Given the description of an element on the screen output the (x, y) to click on. 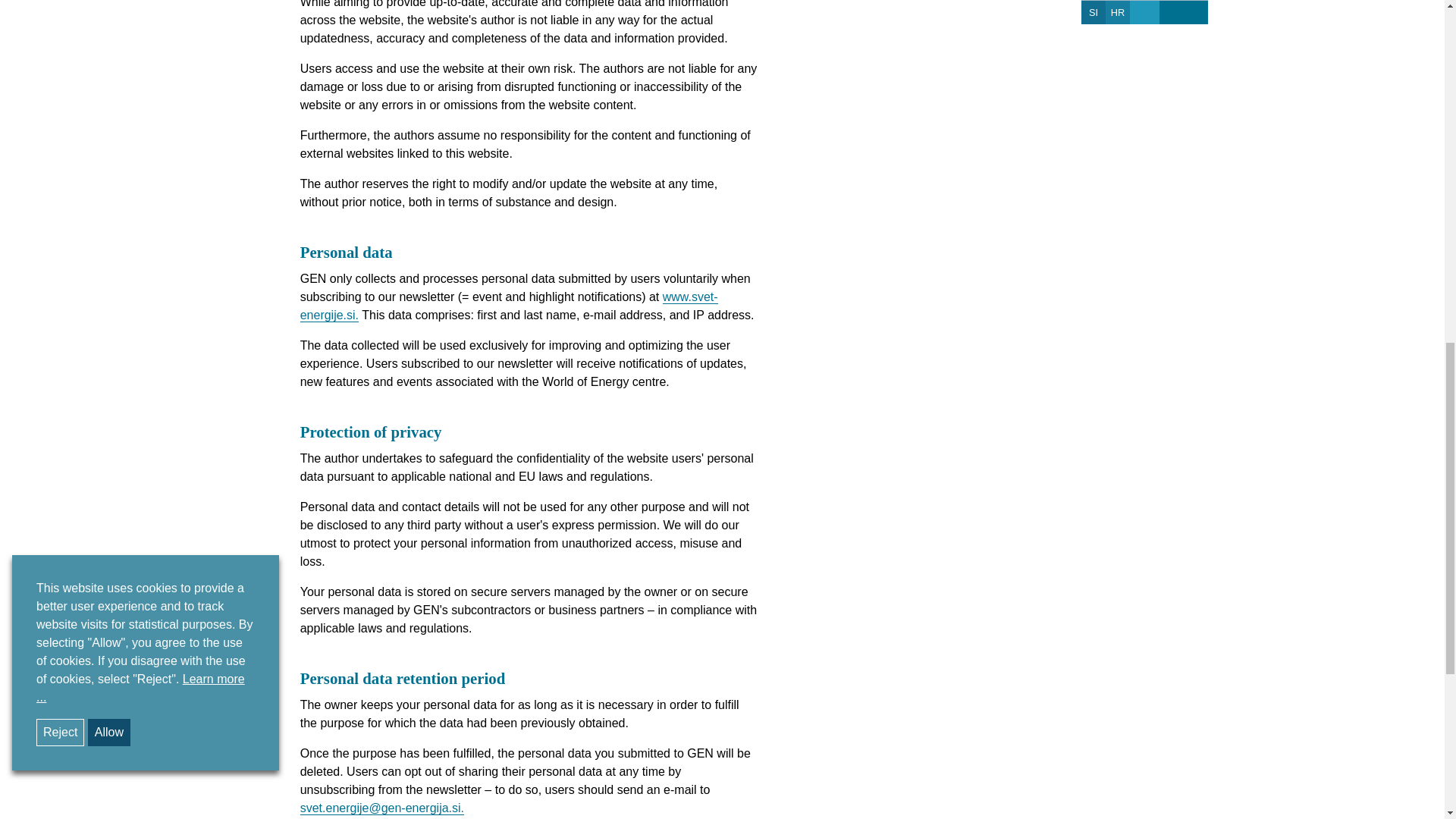
www.svet-energije.si. (508, 306)
